Given the description of an element on the screen output the (x, y) to click on. 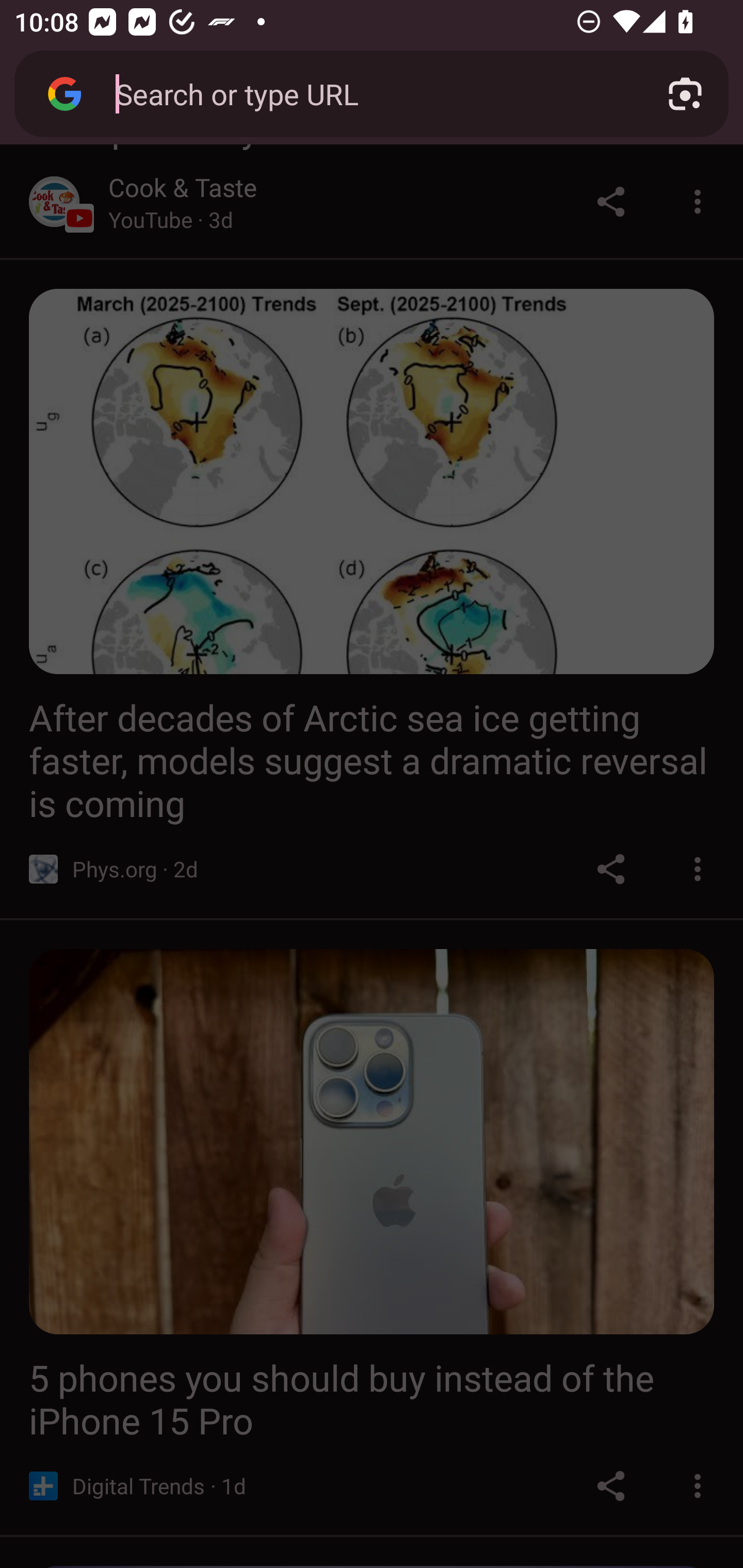
Search with your camera using Google Lens (684, 93)
Search or type URL (367, 92)
